Given the description of an element on the screen output the (x, y) to click on. 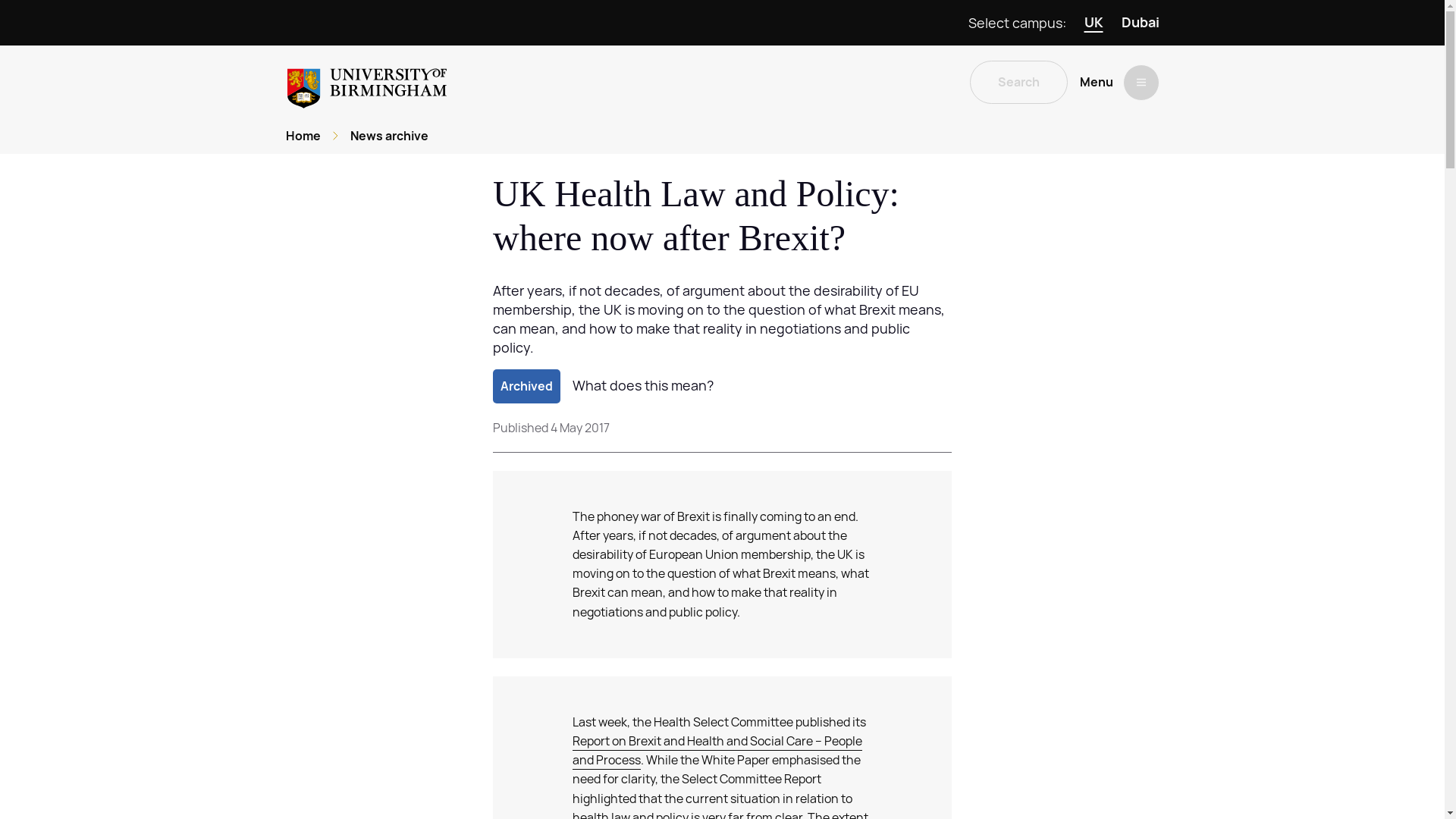
Home (302, 136)
Dubai (1139, 22)
UK (1093, 22)
Search (1018, 81)
What does this mean? (642, 384)
News archive (389, 136)
